Given the description of an element on the screen output the (x, y) to click on. 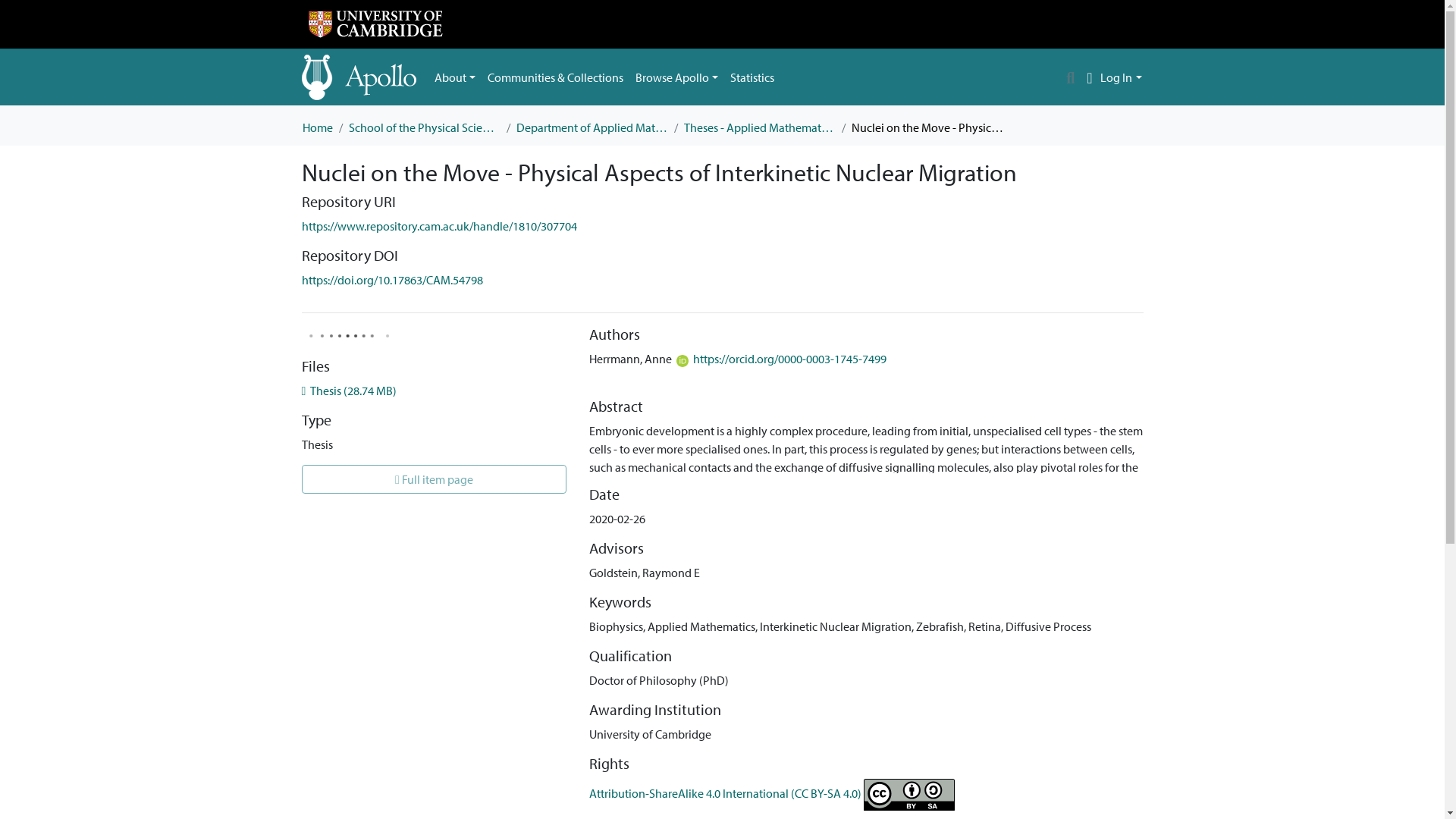
Language switch (1089, 76)
Log In (1120, 77)
Home (316, 126)
Full item page (434, 479)
About (454, 77)
Theses - Applied Mathematics and Theoretical Physics (759, 126)
Search (1070, 76)
Browse Apollo (675, 77)
Statistics (751, 77)
School of the Physical Sciences (424, 126)
Statistics (751, 77)
